Given the description of an element on the screen output the (x, y) to click on. 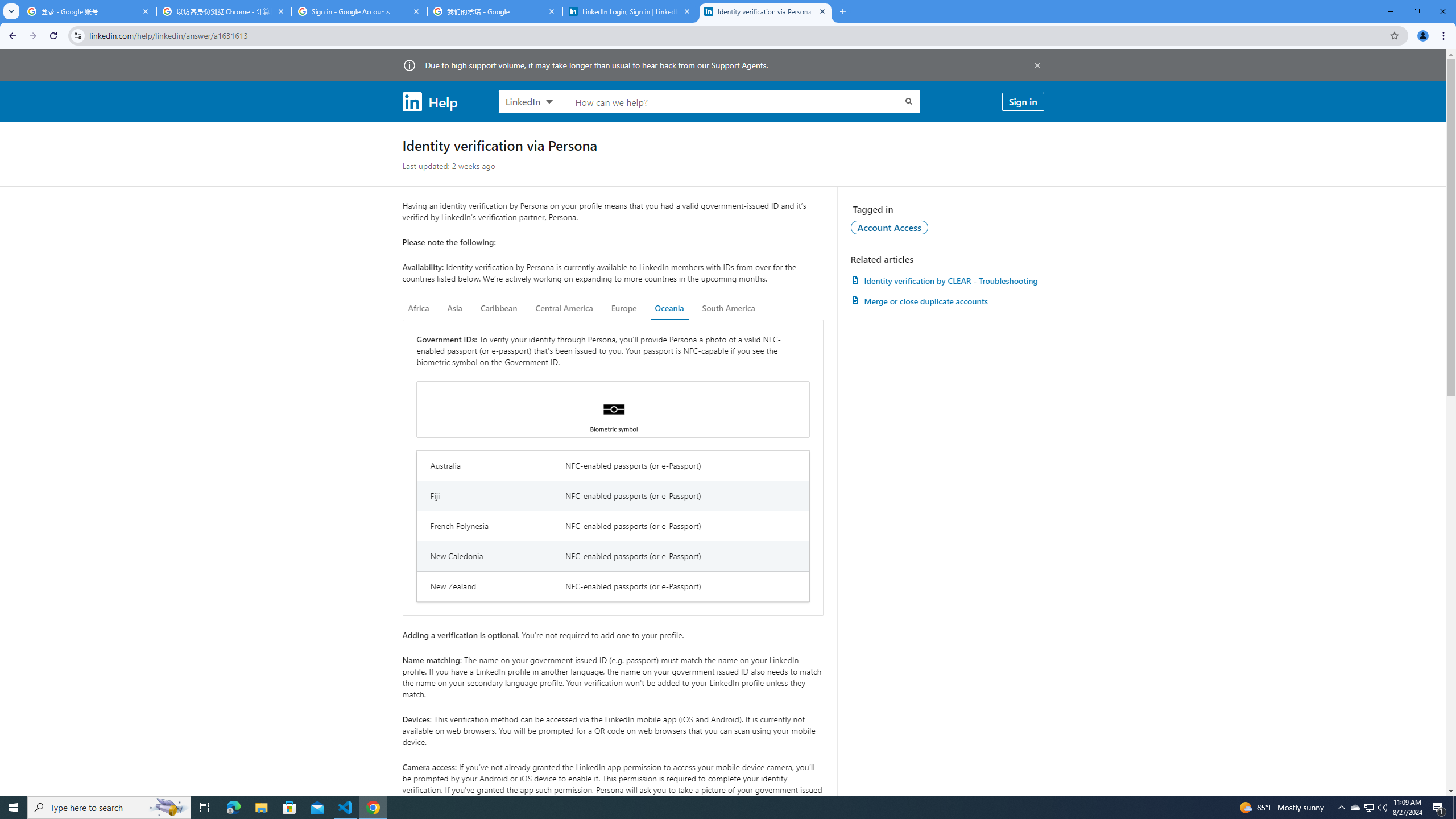
AutomationID: topic-link-a151002 (889, 227)
Merge or close duplicate accounts (946, 300)
Account Access (889, 227)
Caribbean (499, 308)
here (689, 801)
Identity verification by CLEAR - Troubleshooting (946, 280)
AutomationID: article-link-a1457505 (946, 280)
Africa (418, 308)
